Given the description of an element on the screen output the (x, y) to click on. 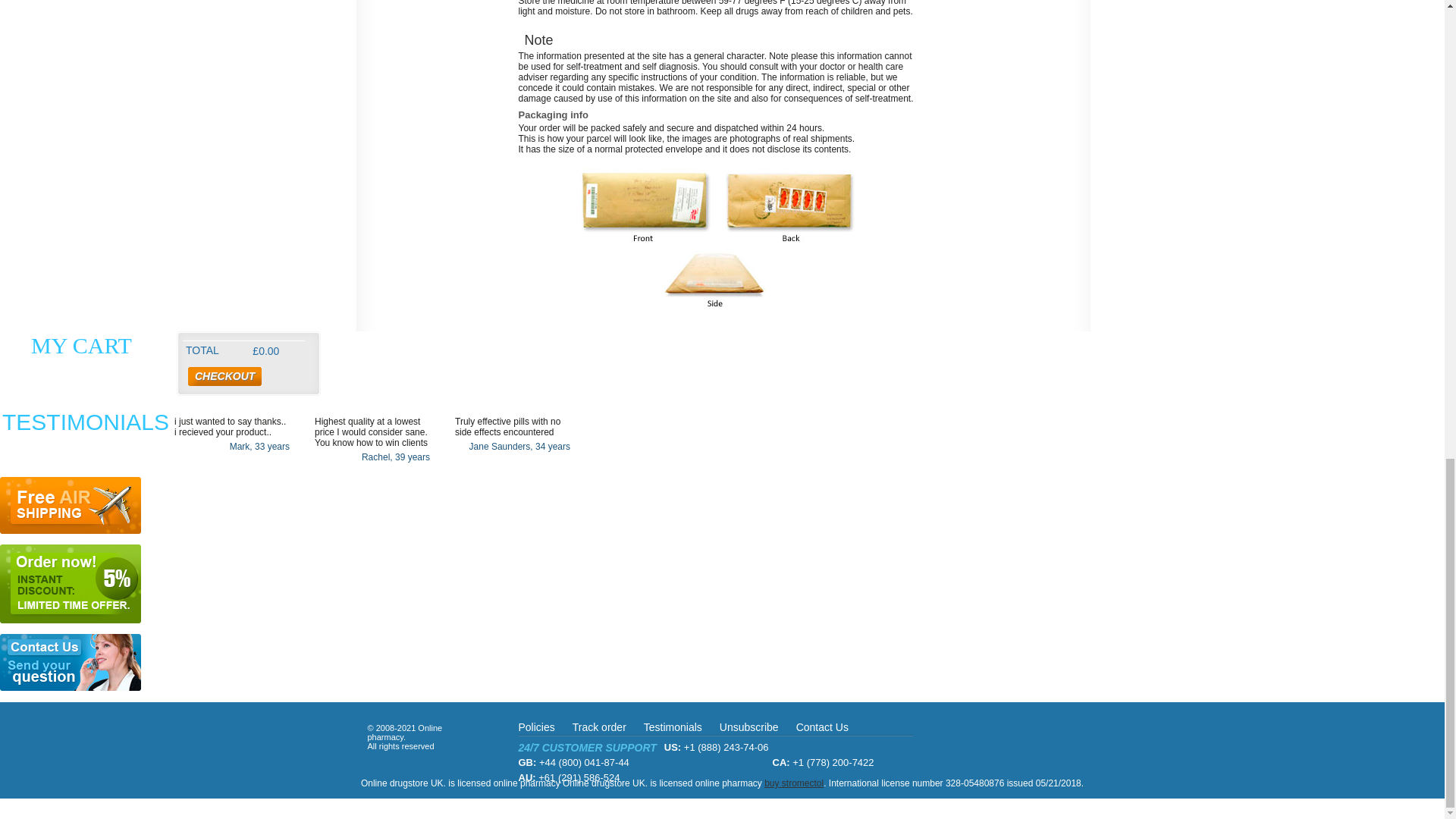
Facebook (970, 737)
Tweeter (1001, 737)
LiveInternet (33, 803)
YouTube (1031, 737)
Linkedin (1062, 737)
